Given the description of an element on the screen output the (x, y) to click on. 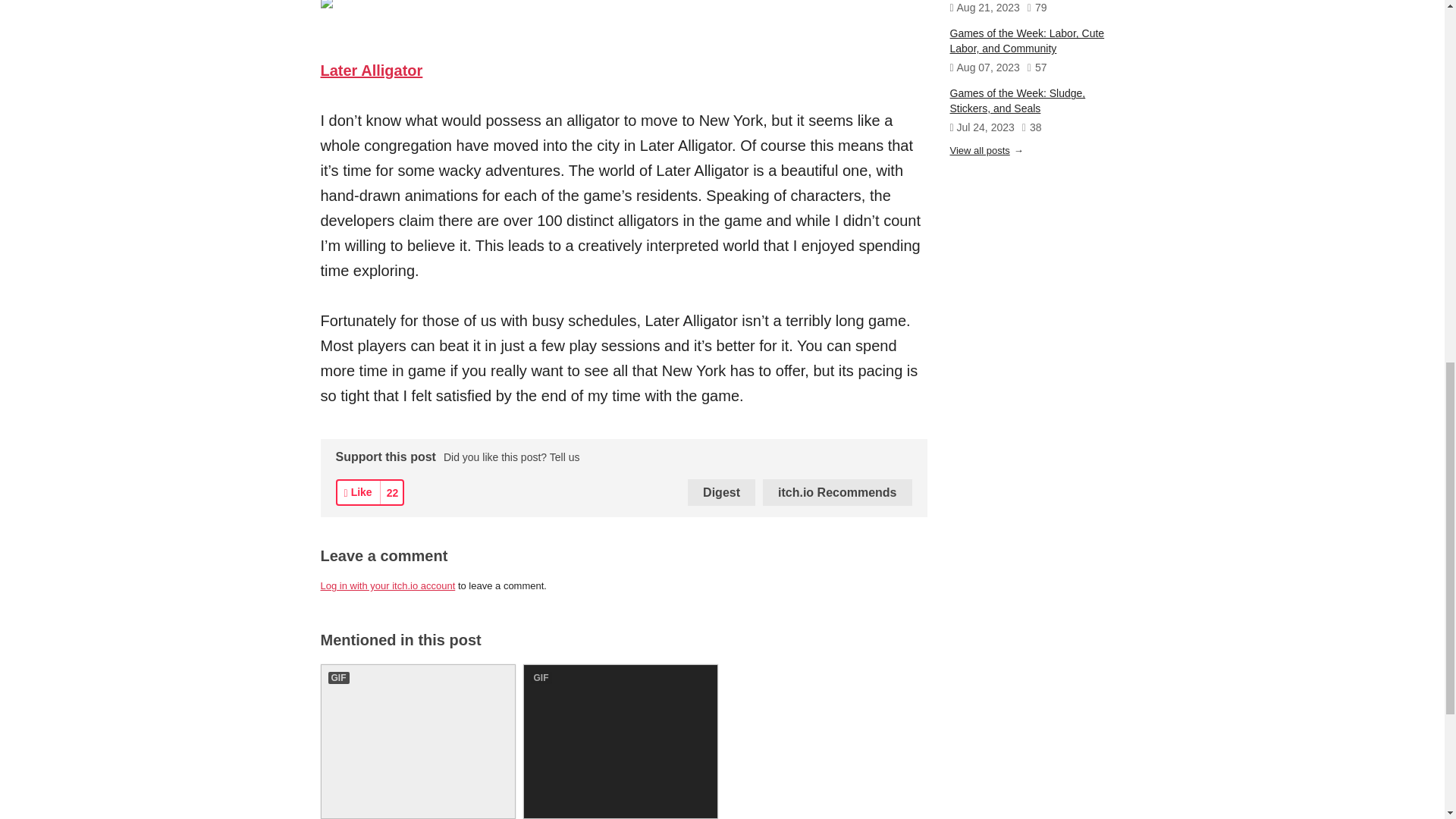
Digest (721, 492)
Like (357, 492)
itch.io Recommends (836, 492)
Later Alligator (371, 70)
